Given the description of an element on the screen output the (x, y) to click on. 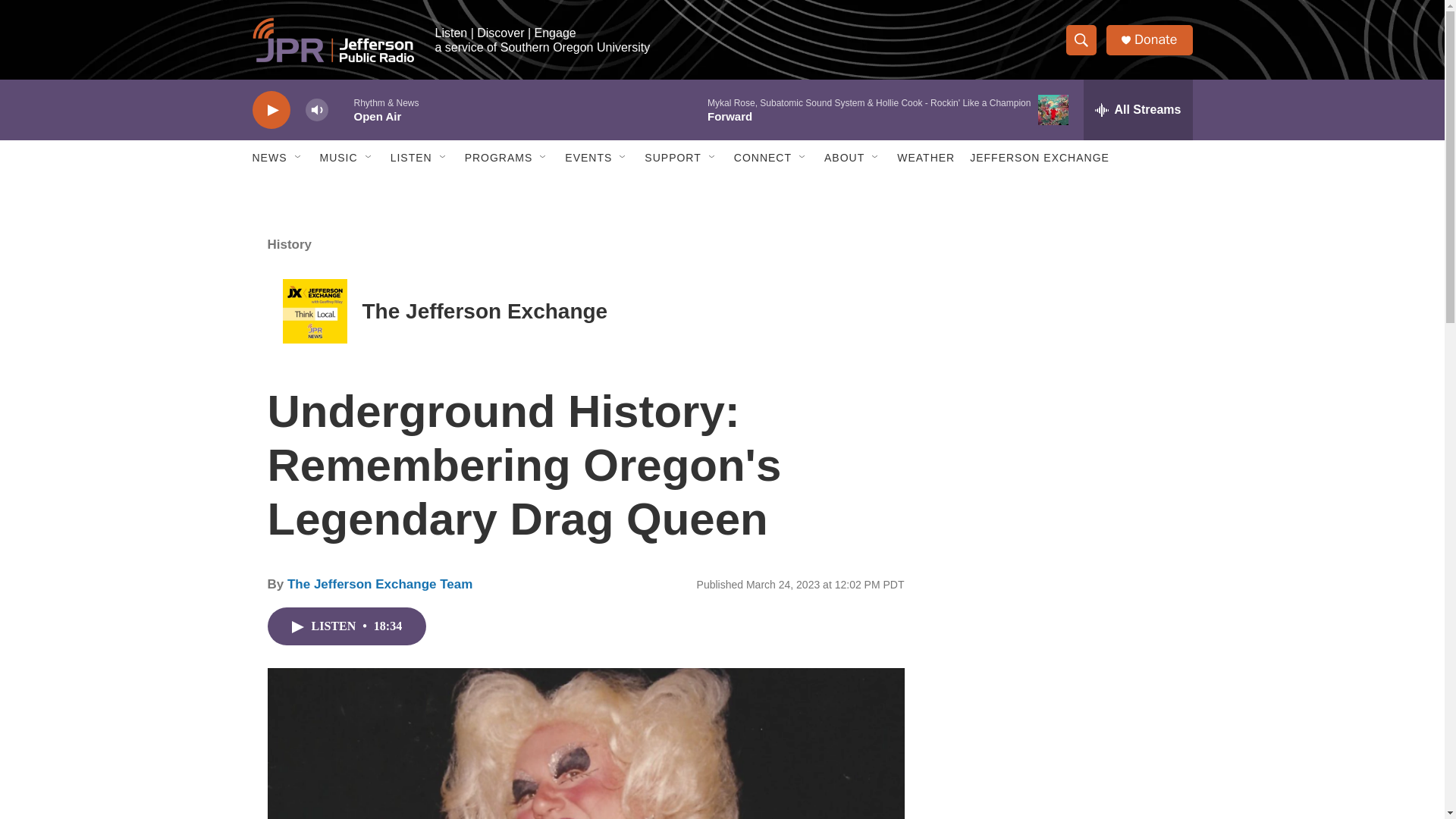
3rd party ad content (1062, 536)
3rd party ad content (1062, 316)
3rd party ad content (1062, 740)
